Given the description of an element on the screen output the (x, y) to click on. 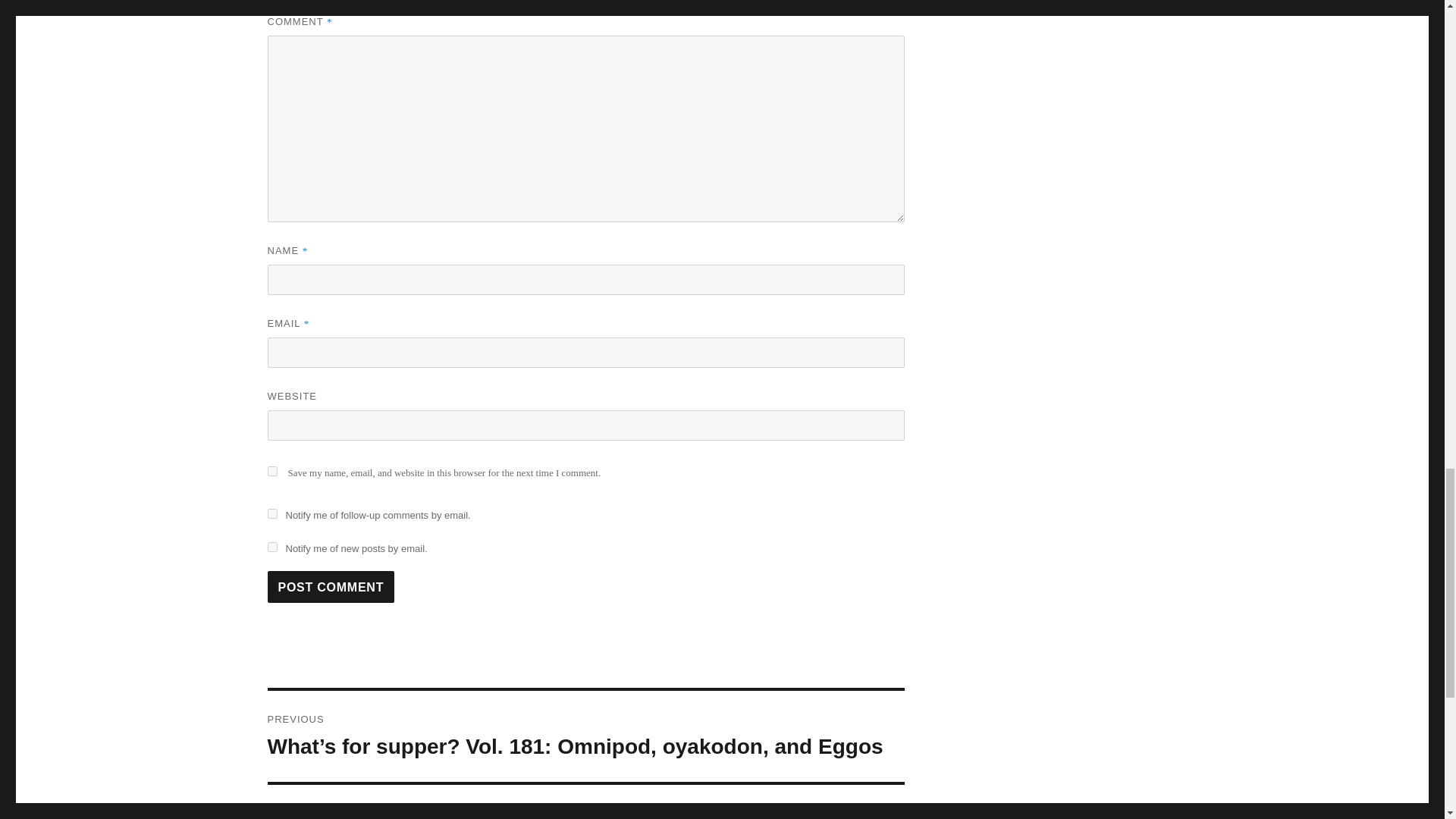
subscribe (271, 547)
yes (271, 470)
Post Comment (330, 586)
subscribe (271, 513)
Post Comment (330, 586)
